Given the description of an element on the screen output the (x, y) to click on. 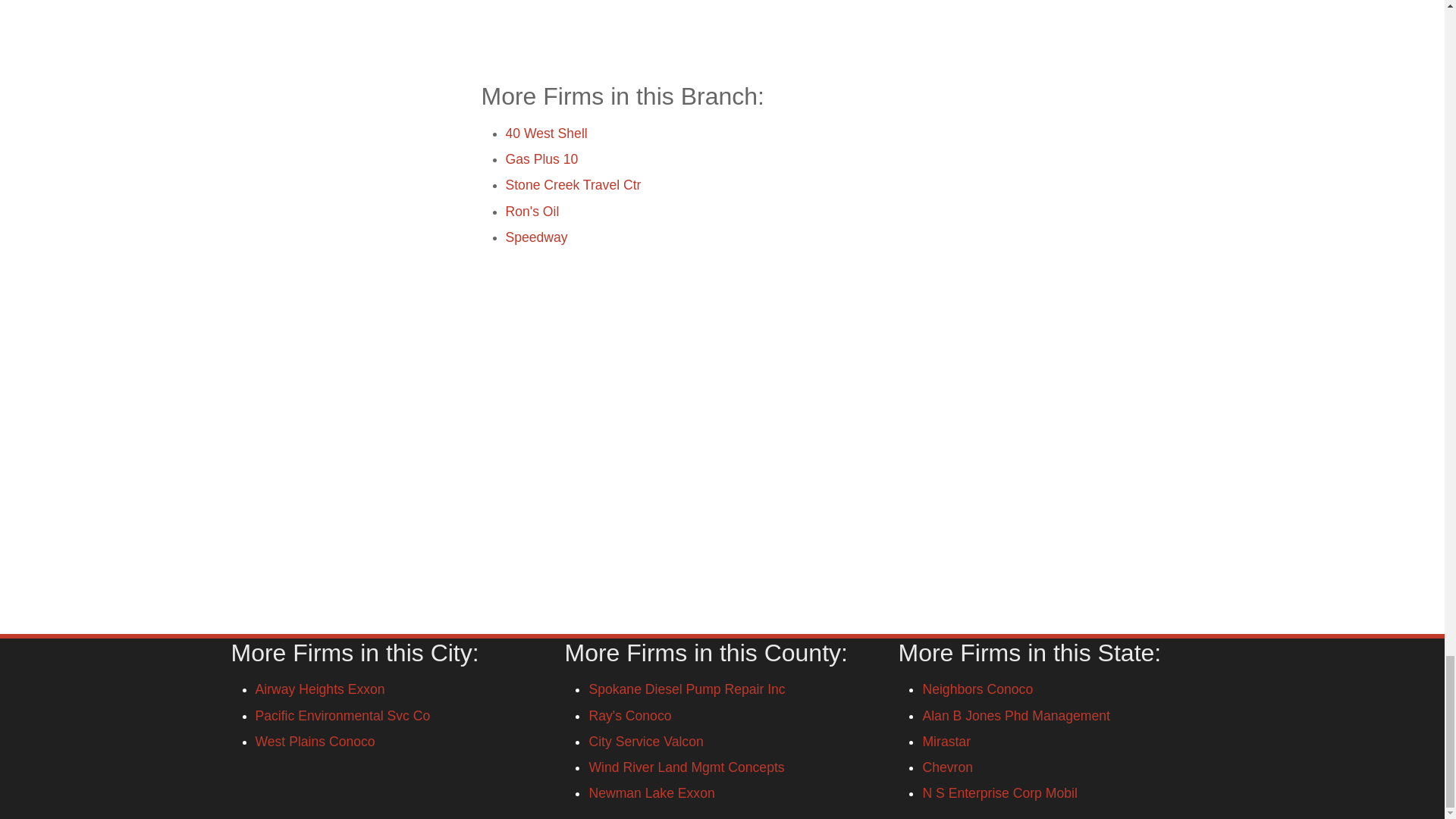
Ron's Oil (532, 211)
Gas Plus 10 (541, 159)
Speedway (536, 237)
Stone Creek Travel Ctr (572, 184)
40 West Shell (545, 133)
